Given the description of an element on the screen output the (x, y) to click on. 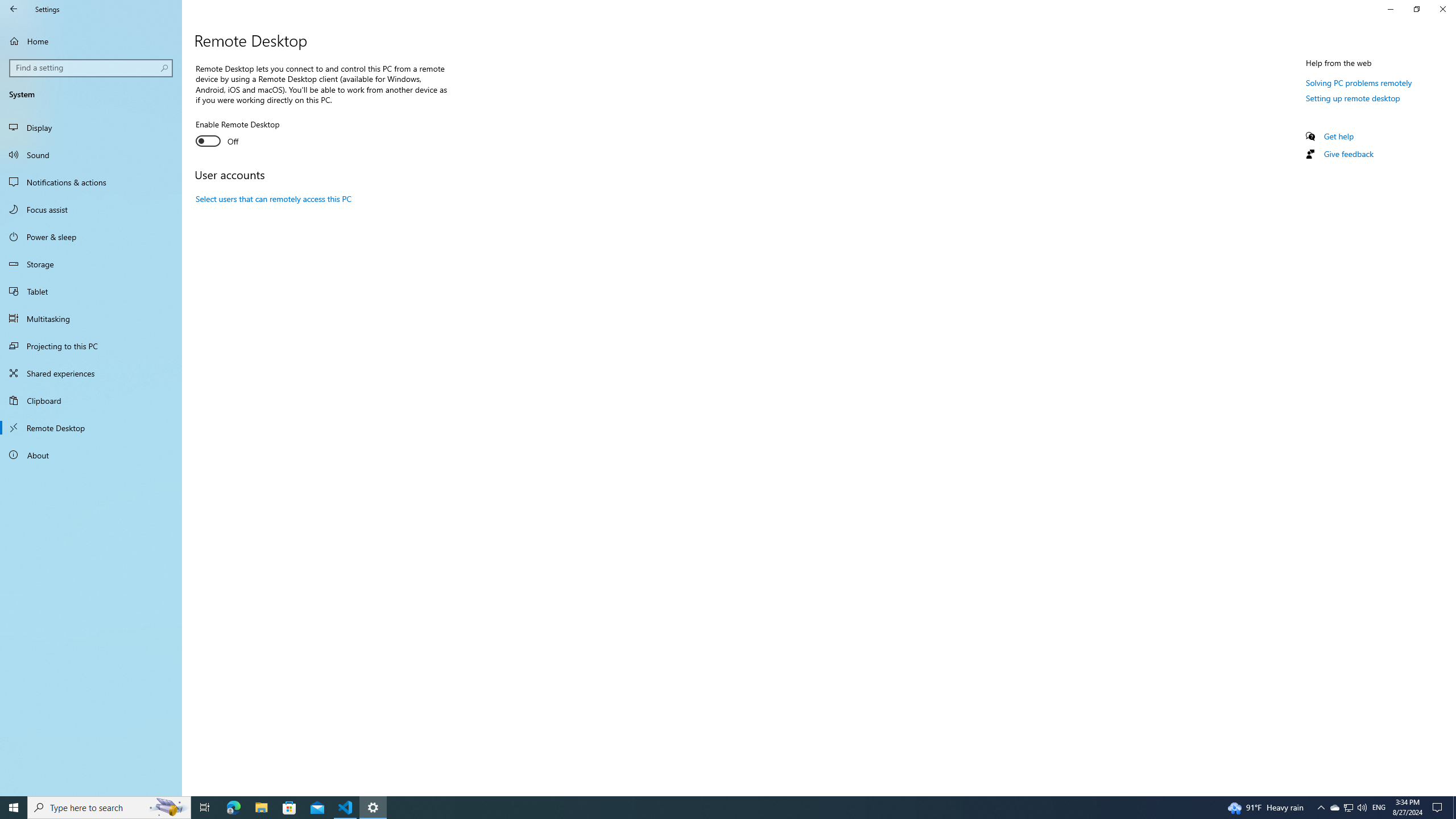
Remote Desktop (91, 427)
Microsoft Store (289, 807)
Tablet (91, 290)
Running applications (706, 807)
Show desktop (1454, 807)
Display (91, 126)
Sound (91, 154)
Storage (91, 263)
Solving PC problems remotely (1359, 82)
About (91, 454)
Projecting to this PC (91, 345)
Close Settings (1442, 9)
Shared experiences (91, 372)
Home (91, 40)
Action Center, No new notifications (1439, 807)
